Given the description of an element on the screen output the (x, y) to click on. 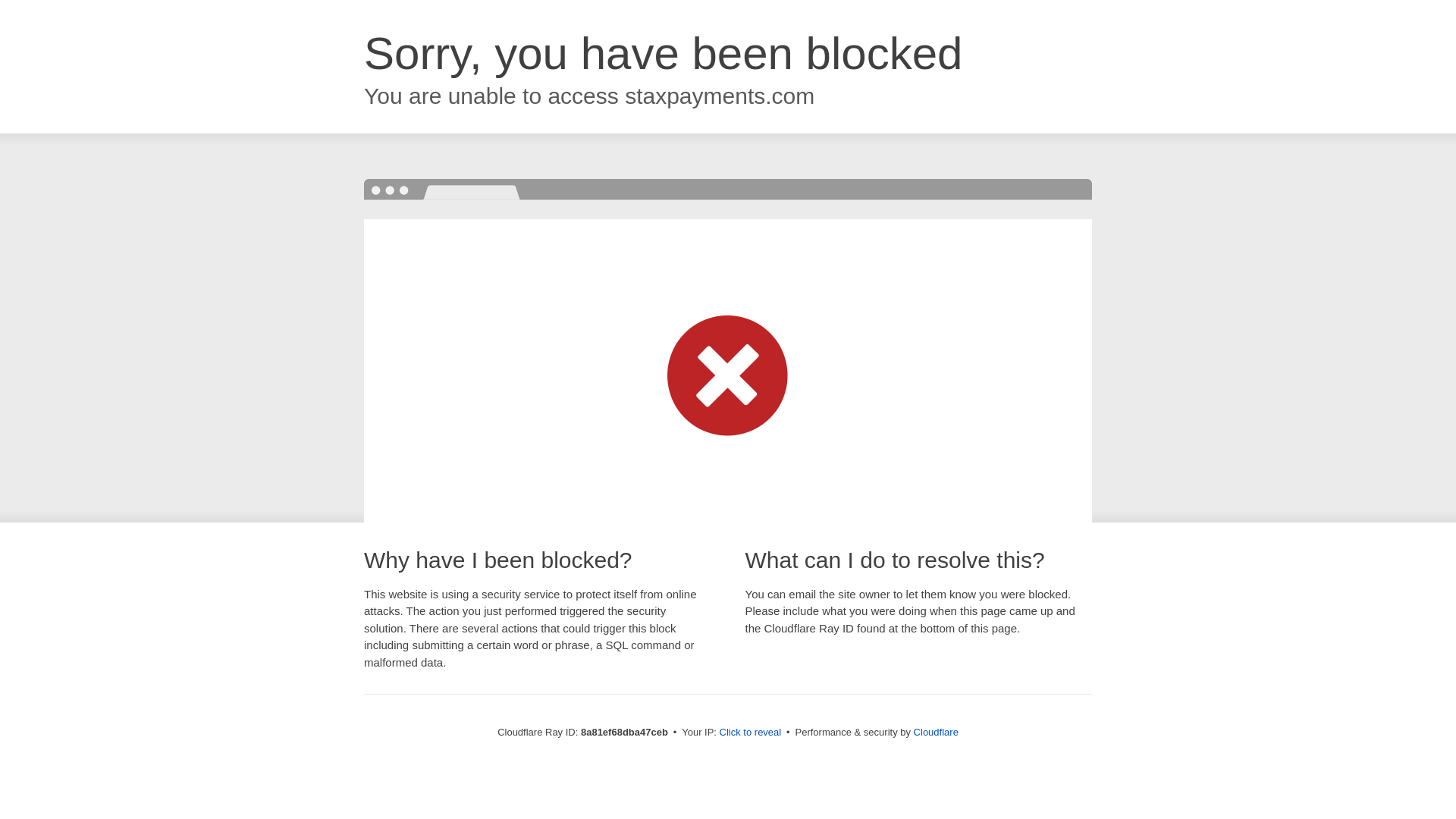
Cloudflare (936, 731)
Click to reveal (750, 732)
